Given the description of an element on the screen output the (x, y) to click on. 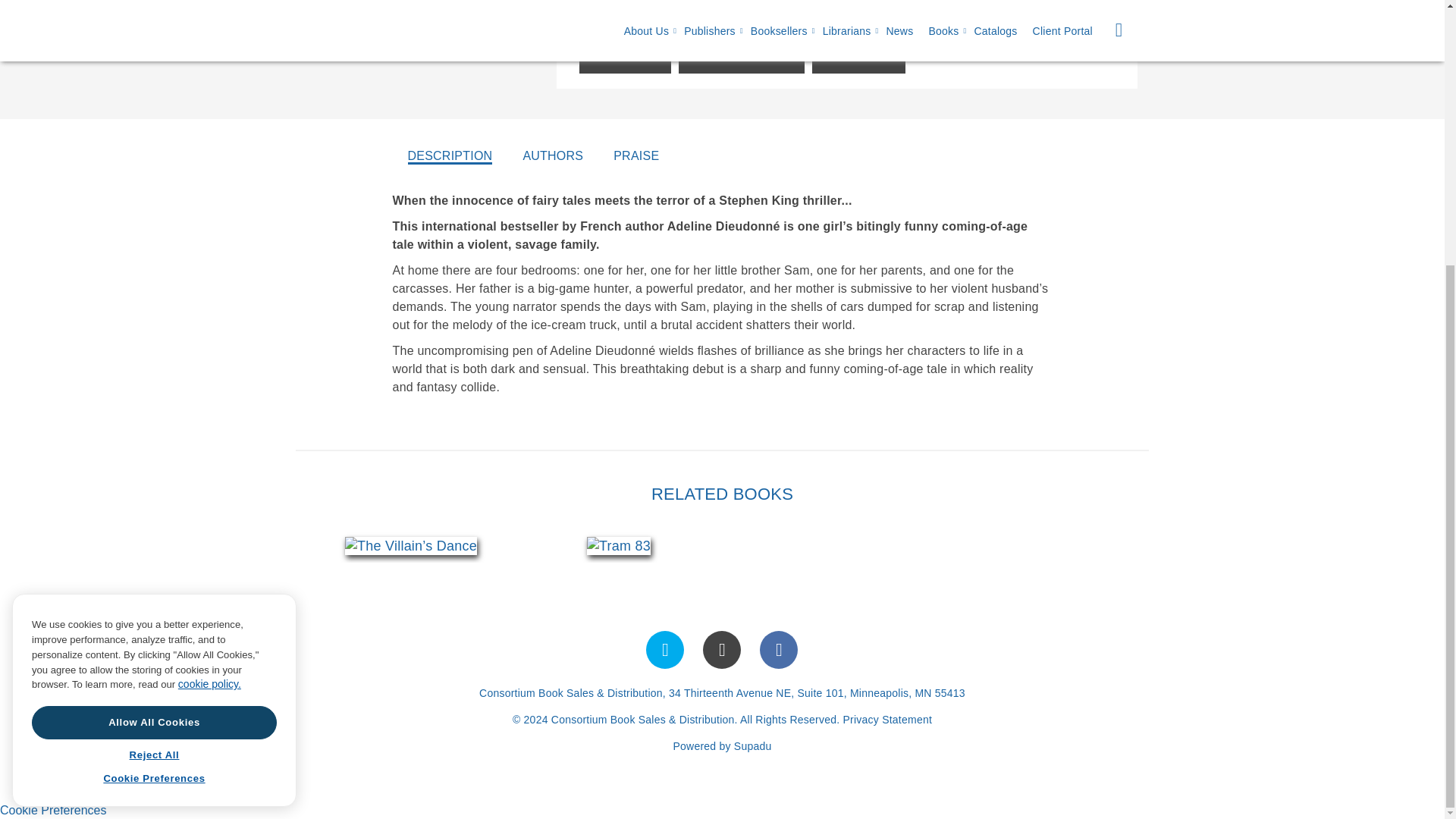
Follow us on Instagram (722, 649)
isbn-carousel (514, 545)
Edelweiss (858, 55)
Follow us on Facebook (778, 649)
Tram 83 (618, 546)
Bookshop (625, 55)
